Given the description of an element on the screen output the (x, y) to click on. 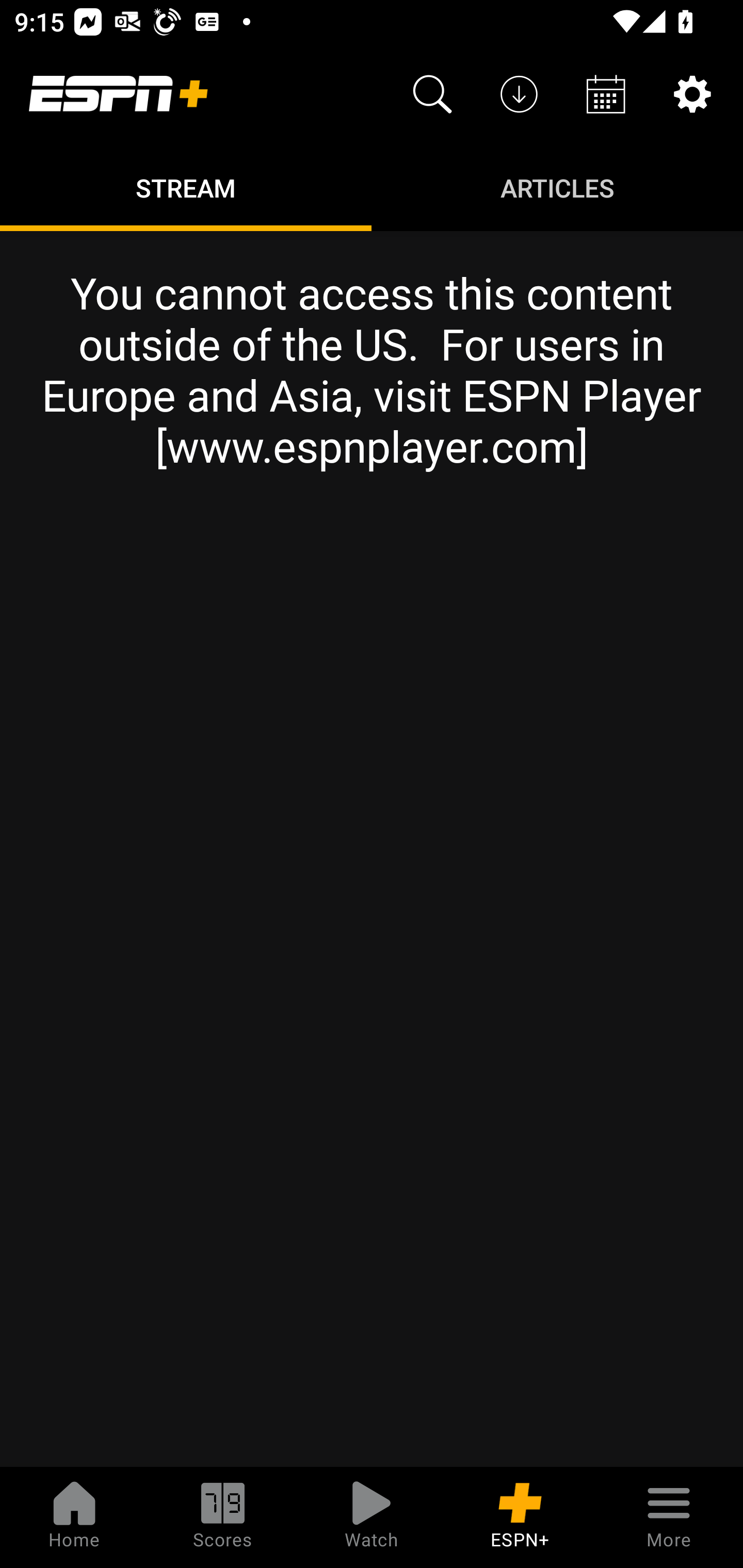
Search (432, 93)
Downloads (518, 93)
Schedule (605, 93)
Settings (692, 93)
Articles ARTICLES (557, 187)
Home (74, 1517)
Scores (222, 1517)
Watch (371, 1517)
More (668, 1517)
